Given the description of an element on the screen output the (x, y) to click on. 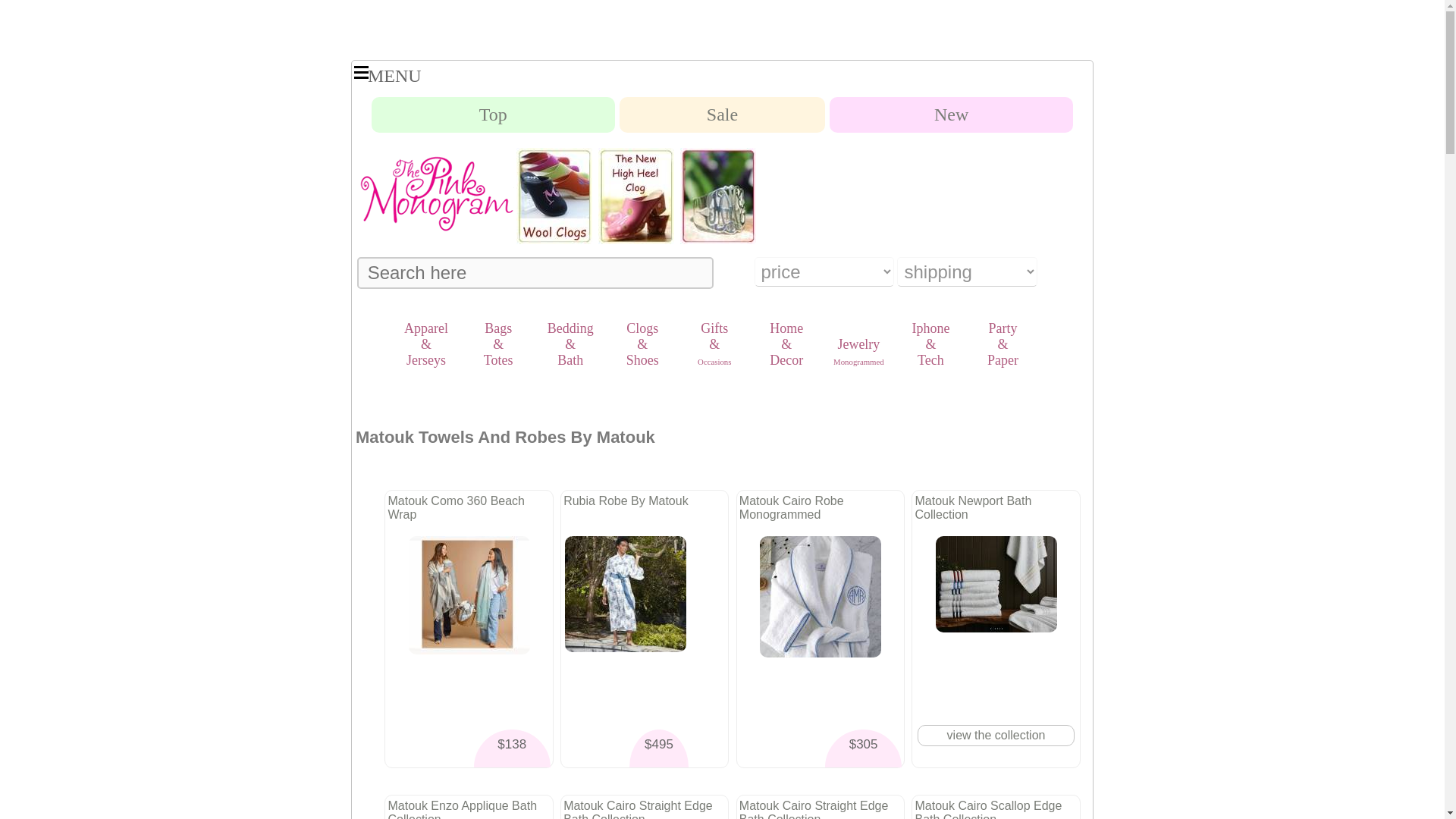
 Matouk Cairo Robe Monogrammed (820, 596)
Matouk Newport Bath Collection (996, 584)
Rubia Robe By Matouk (624, 593)
Matouk Como 360 Beach Wrap (469, 595)
